Given the description of an element on the screen output the (x, y) to click on. 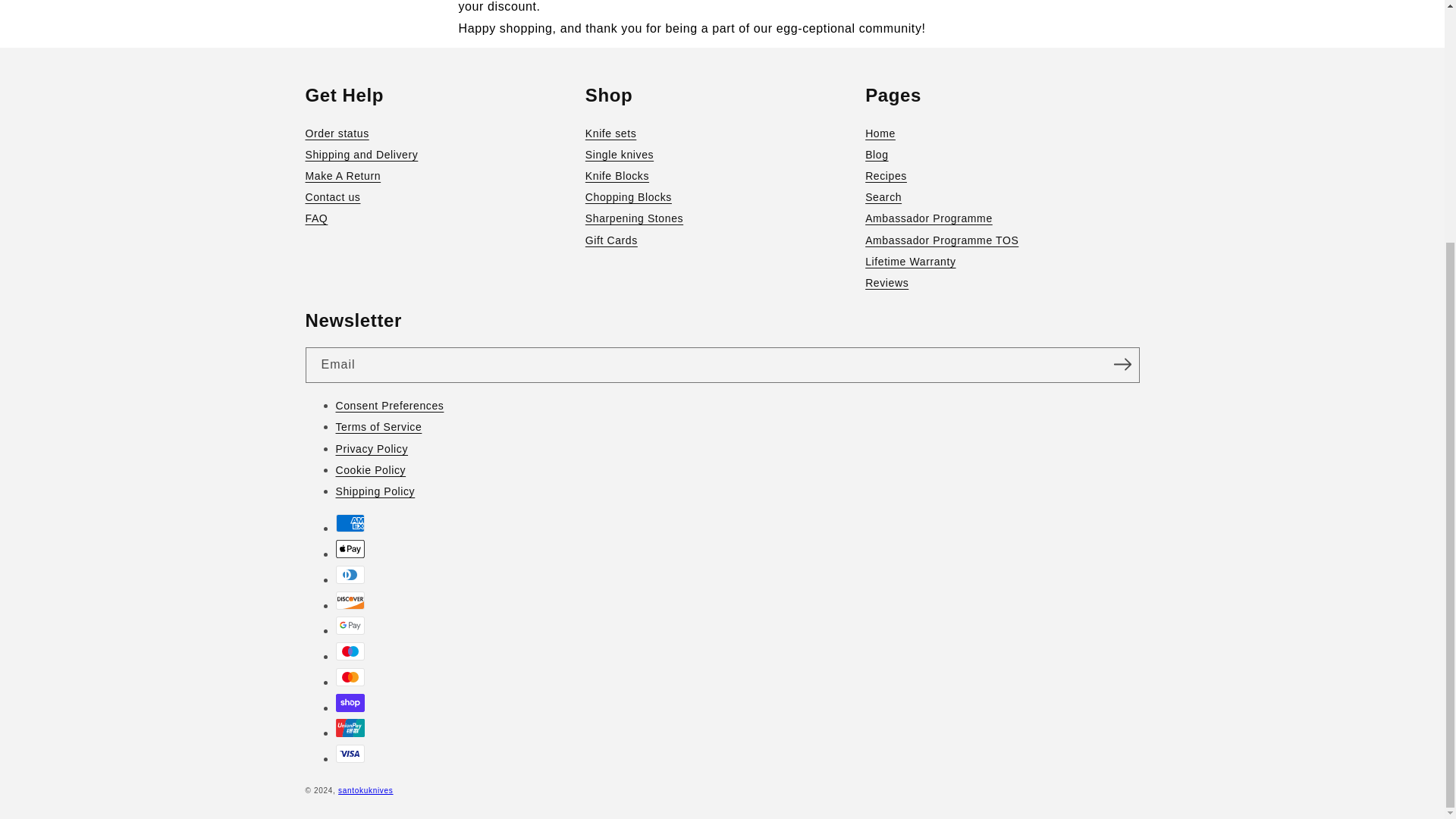
Blog (1001, 154)
Discover (349, 599)
Mastercard (349, 677)
Diners Club (349, 574)
Ambassador Programme TOS (1001, 240)
Apple Pay (349, 548)
American Express (349, 523)
Knife Blocks (722, 175)
Sharpening Stones (722, 218)
Consent Preferences (736, 405)
